Given the description of an element on the screen output the (x, y) to click on. 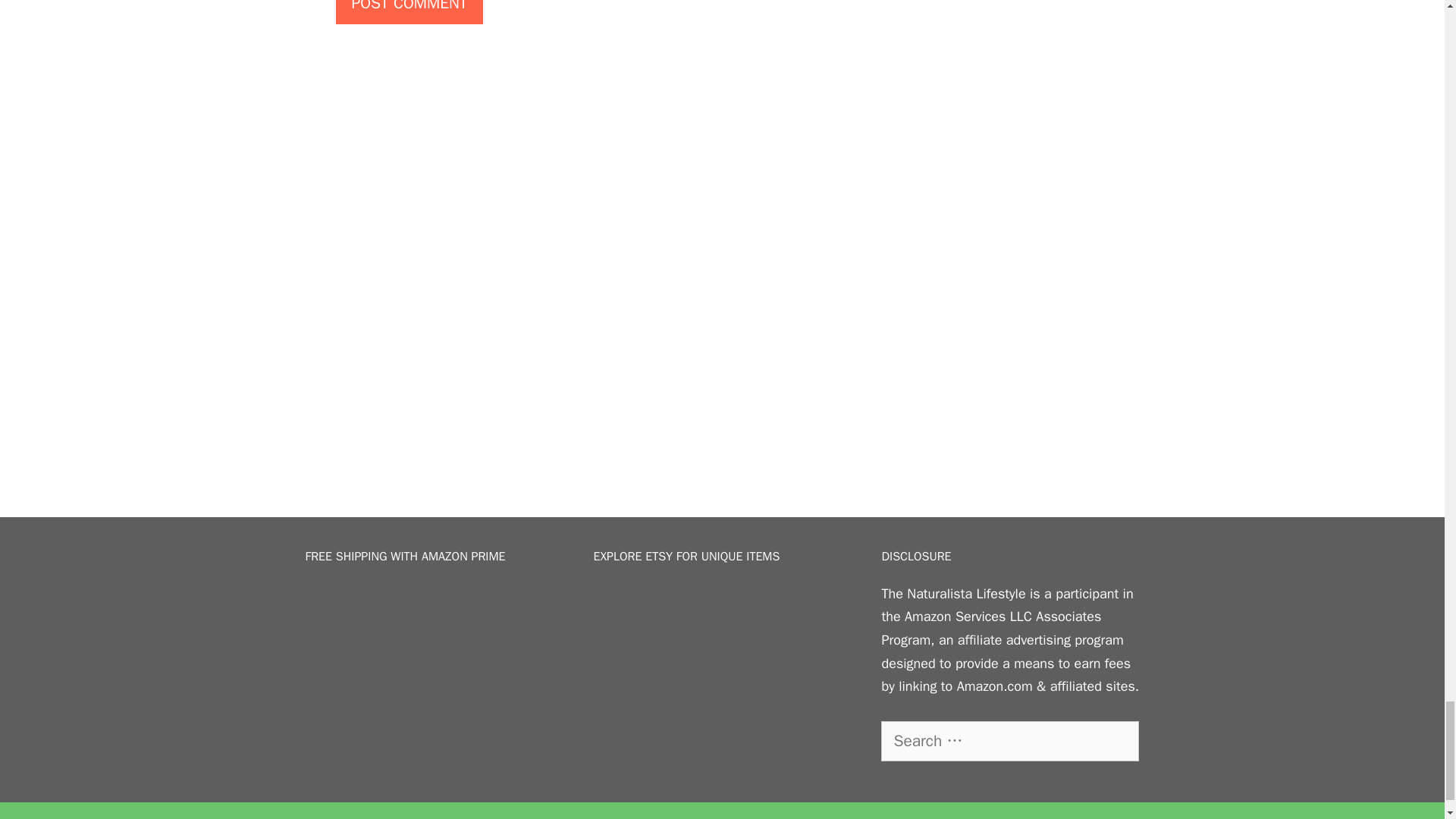
Post Comment (408, 12)
